Given the description of an element on the screen output the (x, y) to click on. 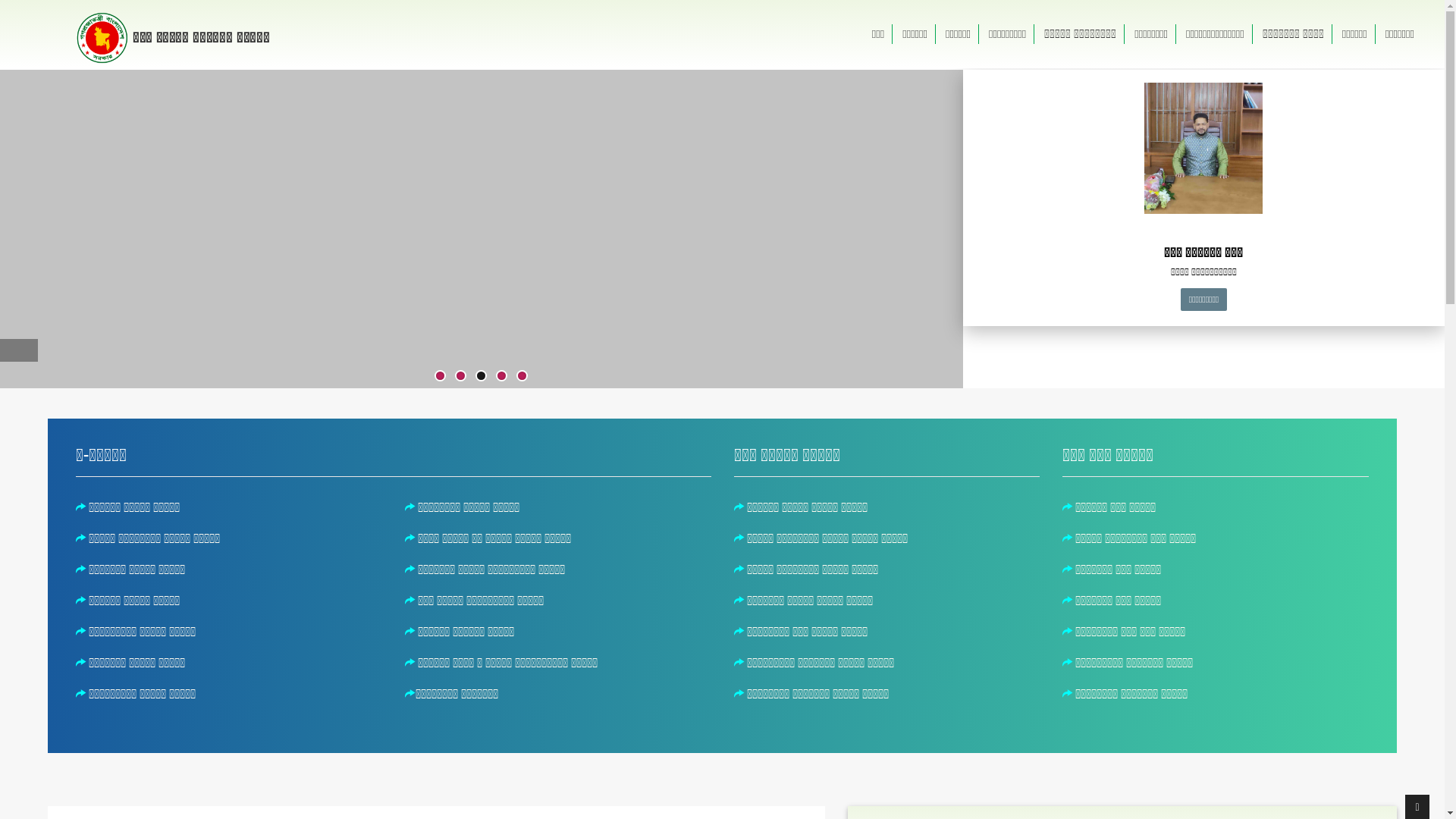
5 Element type: text (521, 375)
4 Element type: text (501, 375)
3 Element type: text (480, 375)
1 Element type: text (440, 375)
2 Element type: text (460, 375)
